Given the description of an element on the screen output the (x, y) to click on. 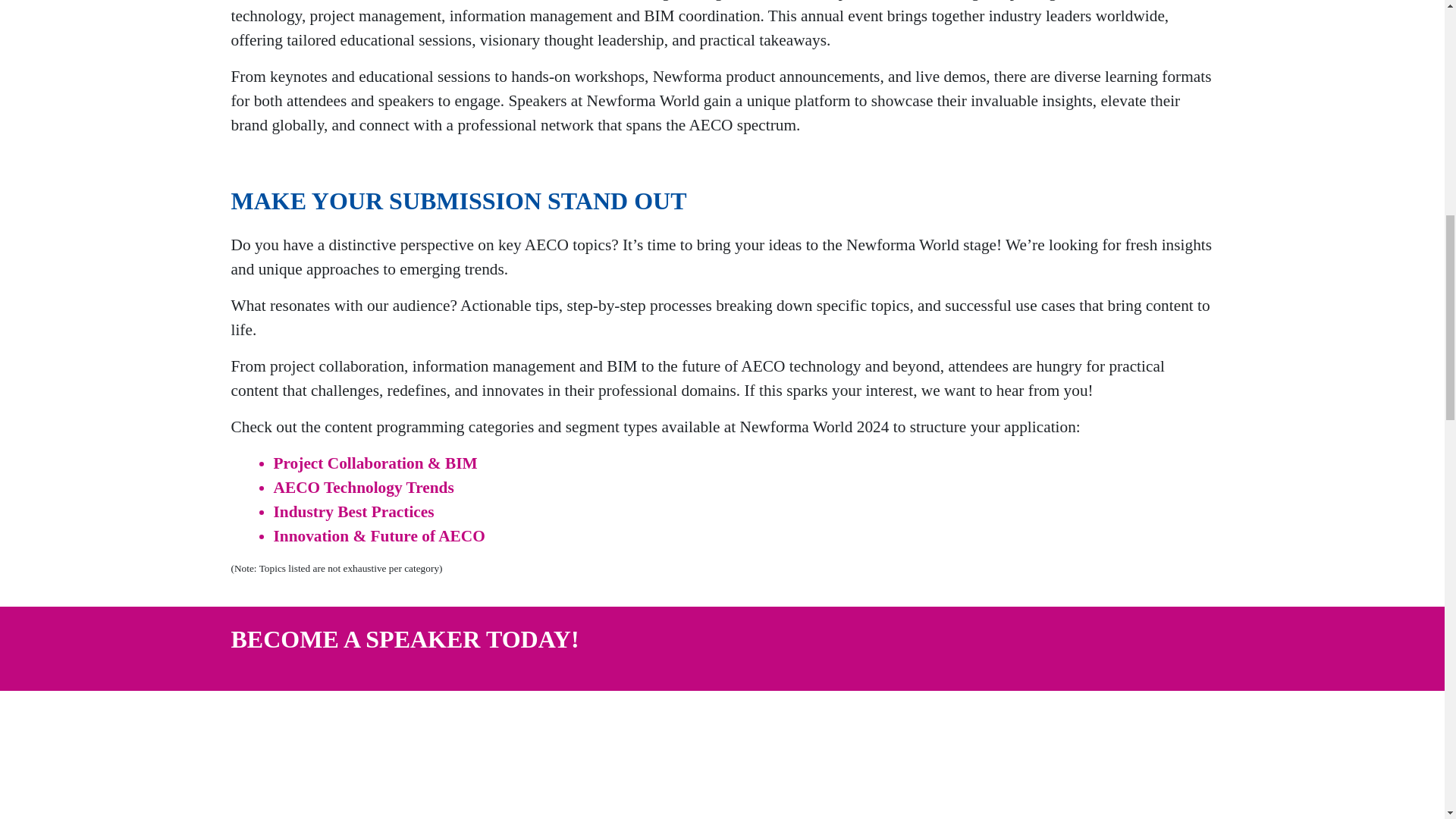
Form 0 (721, 773)
